Given the description of an element on the screen output the (x, y) to click on. 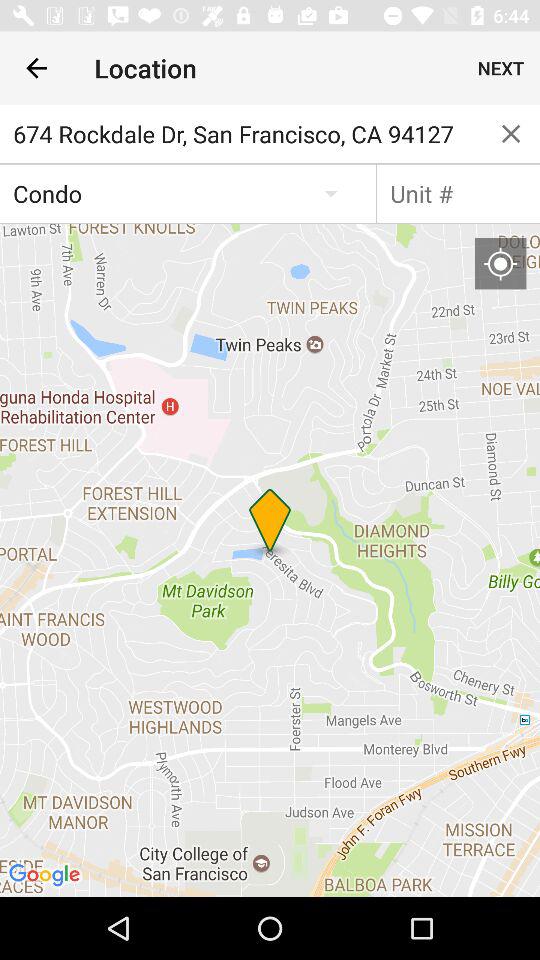
turn on the item to the right of the location item (500, 67)
